Given the description of an element on the screen output the (x, y) to click on. 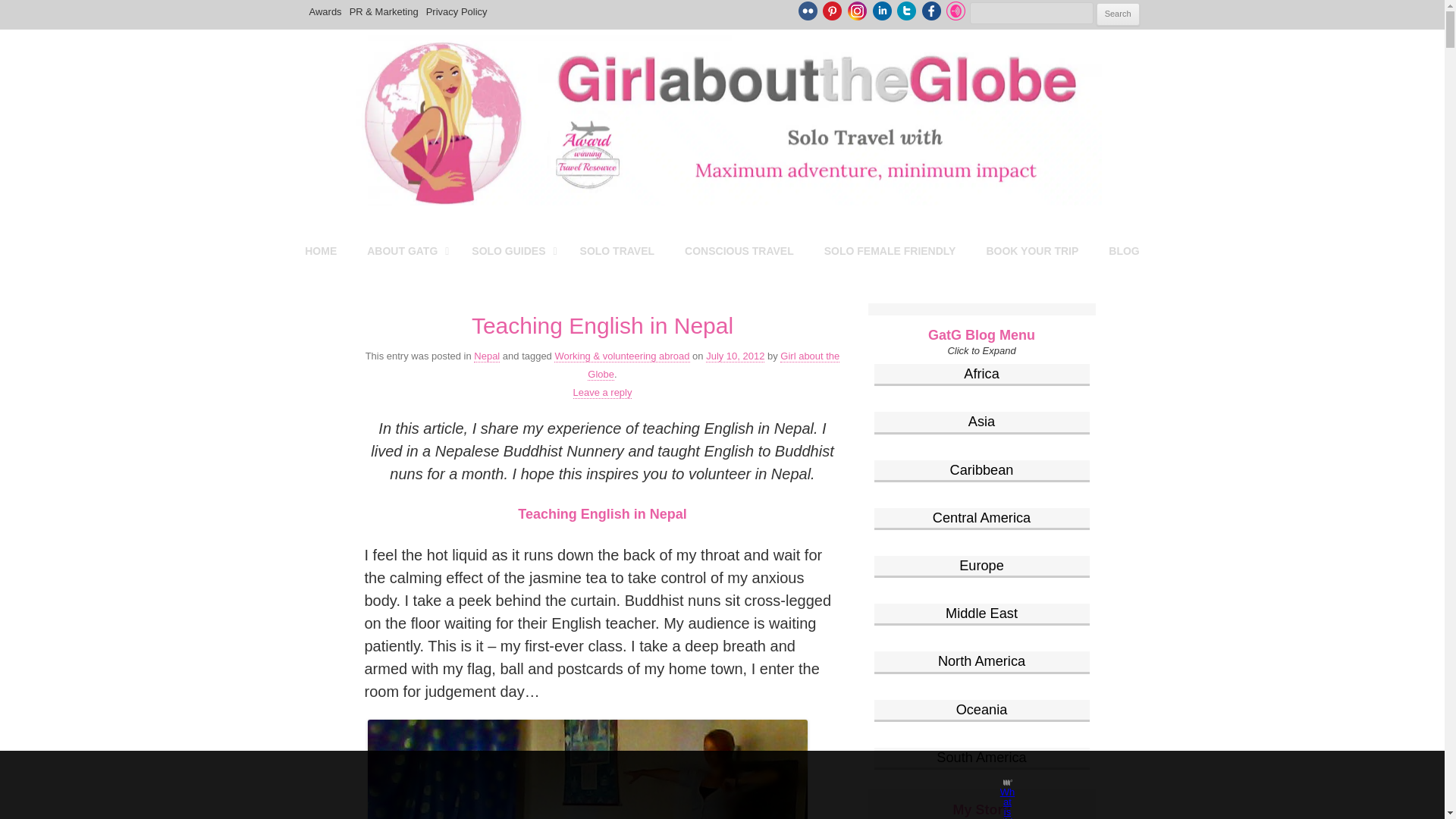
Girl about the Globe (437, 53)
HOME (320, 250)
ABOUT GATG (404, 250)
Search (1118, 14)
Girl about the Globe (437, 53)
Search (1118, 14)
SOLO GUIDES (510, 250)
Privacy Policy (456, 11)
Awards (324, 11)
View all posts by Girl about the Globe (714, 365)
3rd party ad content (708, 785)
13:05 (735, 356)
